Given the description of an element on the screen output the (x, y) to click on. 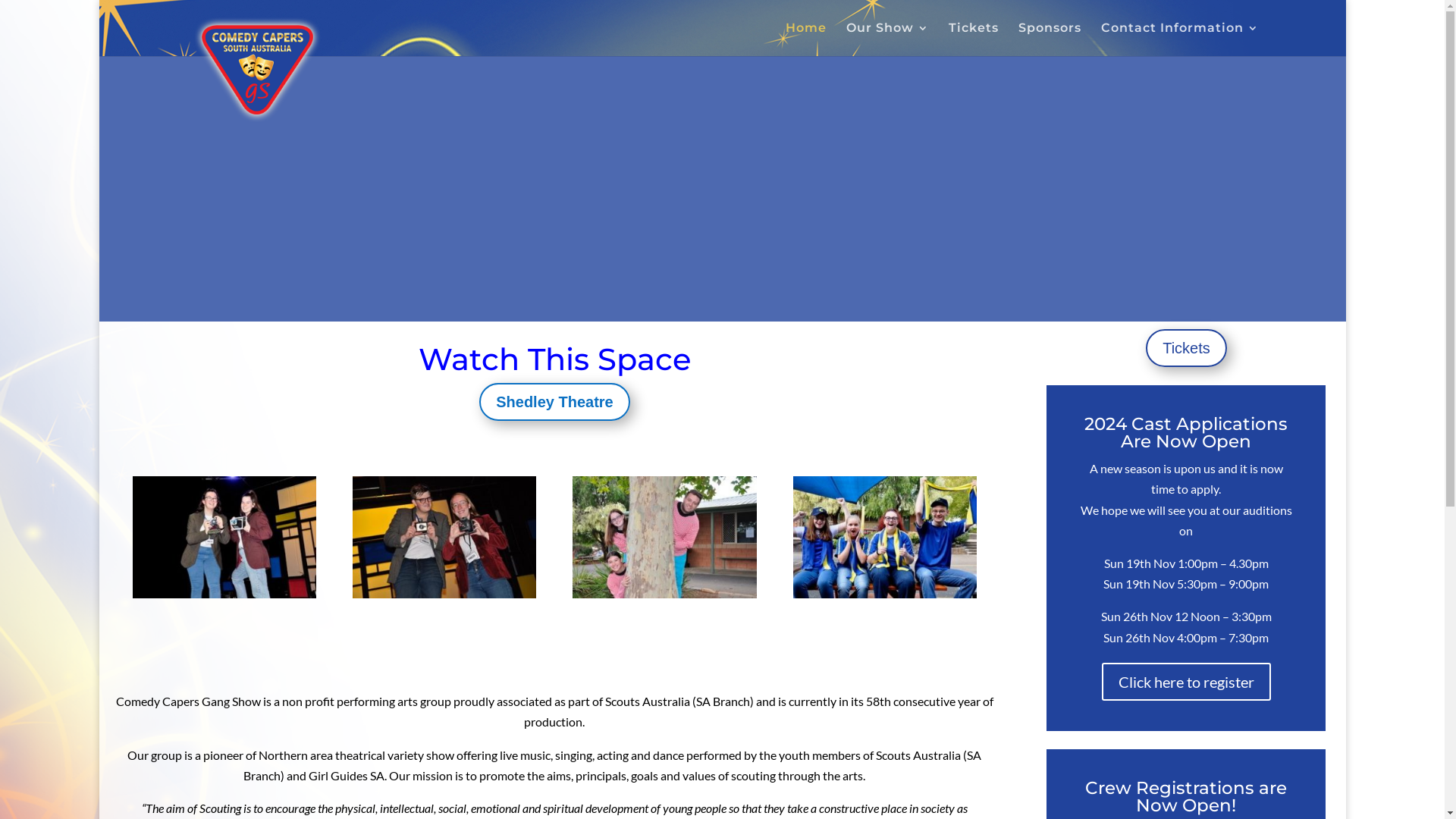
Sponsors Element type: text (1049, 39)
Click here to register Element type: text (1185, 681)
Our Show Element type: text (887, 39)
Tickets Element type: text (973, 39)
Tickets Element type: text (1185, 348)
1 Element type: text (709, 288)
3 Element type: text (734, 288)
Contact Information Element type: text (1179, 39)
Shedley Theatre Element type: text (554, 401)
Home Element type: text (805, 39)
2 Element type: text (721, 288)
